Given the description of an element on the screen output the (x, y) to click on. 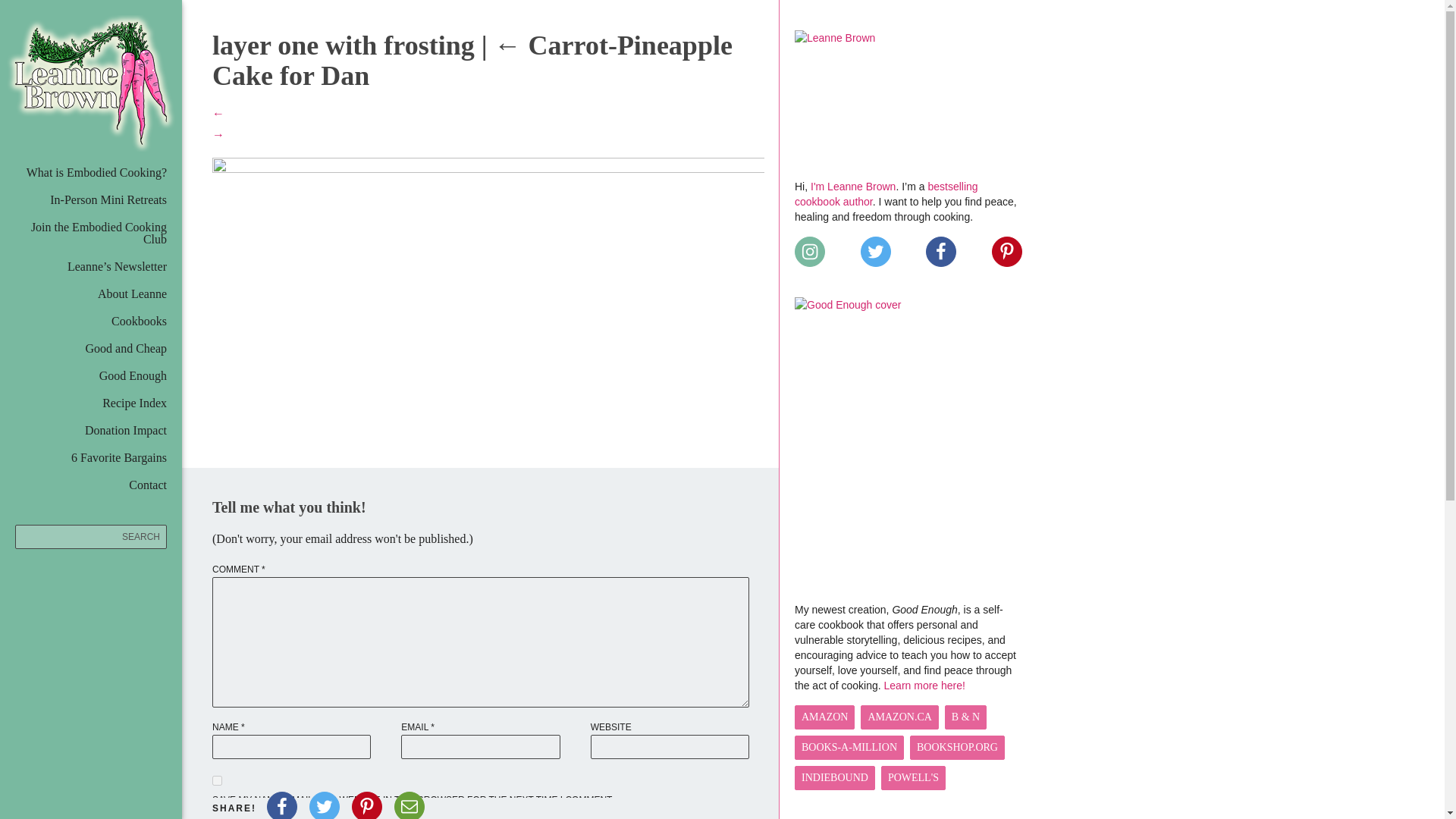
What is Embodied Cooking? (96, 172)
Learn more here! (924, 685)
BOOKS-A-MILLION (849, 747)
AMAZON (824, 717)
Cookbooks (139, 320)
bestselling cookbook author (886, 194)
SEARCH (90, 536)
BOOKSHOP.ORG (957, 747)
SEARCH (90, 536)
Donation Impact (125, 430)
yes (217, 780)
6 Favorite Bargains (119, 457)
Recipe Index (134, 402)
I'm Leanne Brown (852, 186)
Good and Cheap (125, 348)
